Given the description of an element on the screen output the (x, y) to click on. 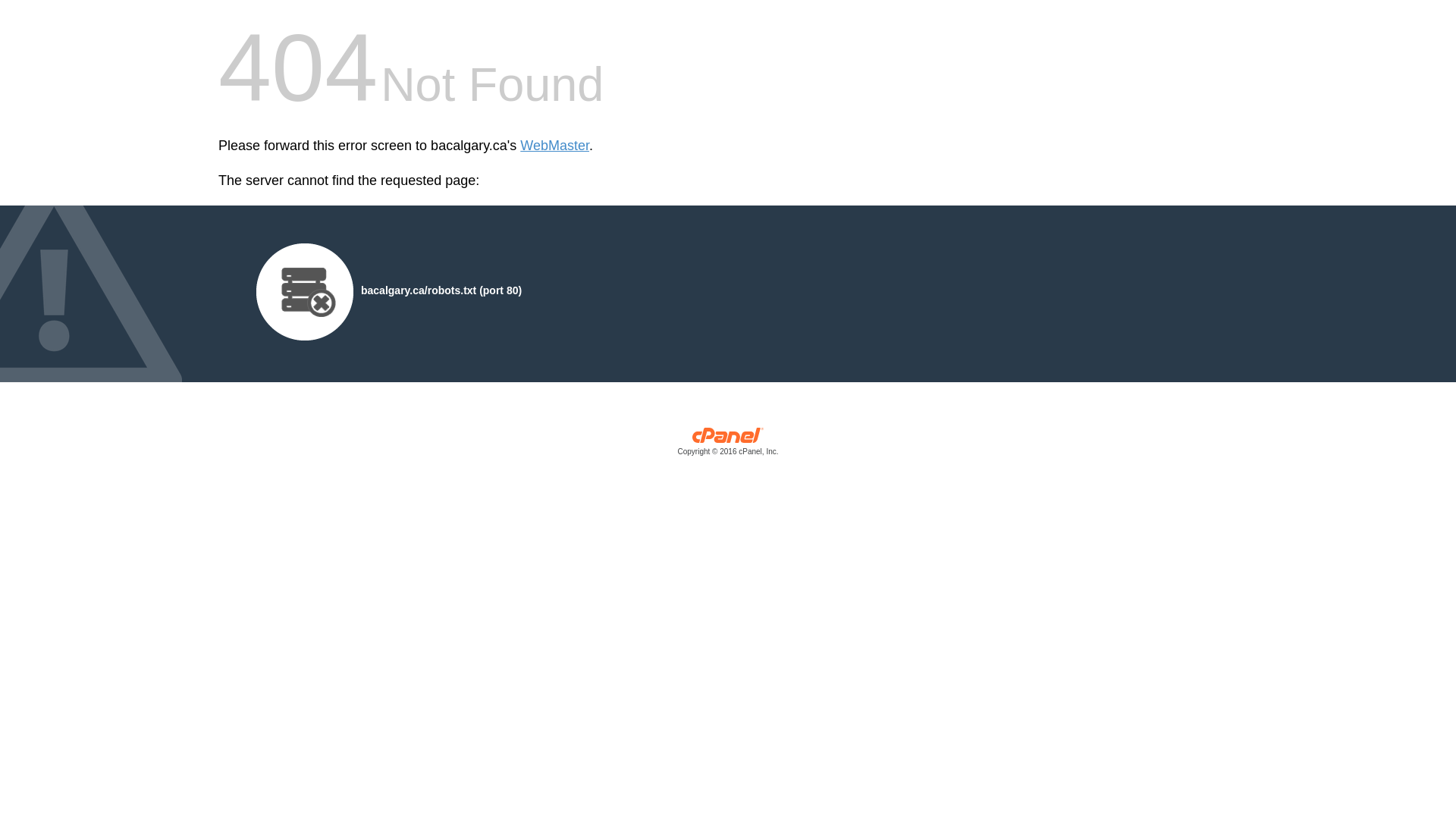
WebMaster Element type: text (554, 145)
